Given the description of an element on the screen output the (x, y) to click on. 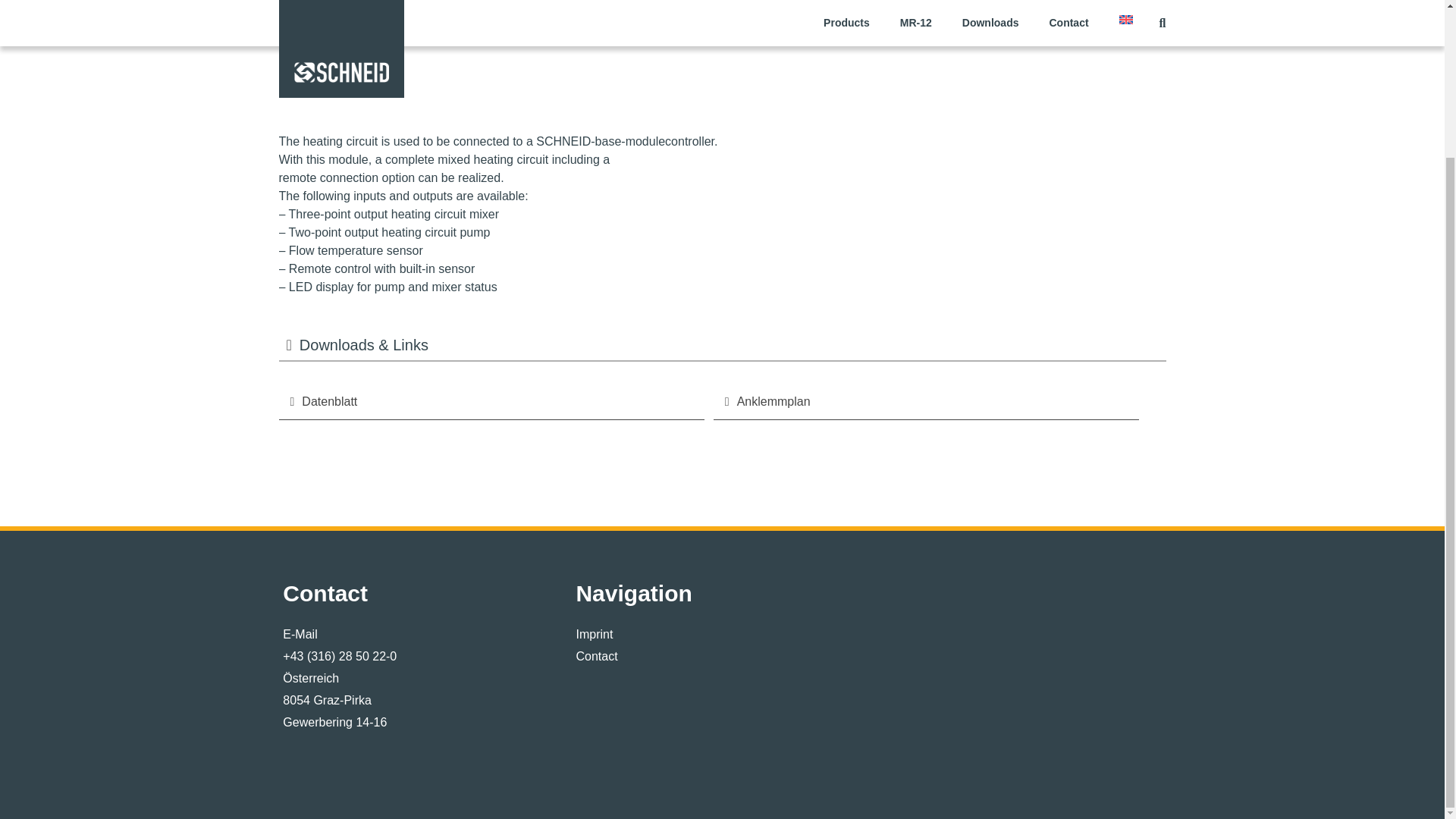
Contact (721, 656)
E-Mail (428, 634)
Imprint (721, 634)
Anklemmplan (926, 402)
Datenblatt (491, 402)
